Given the description of an element on the screen output the (x, y) to click on. 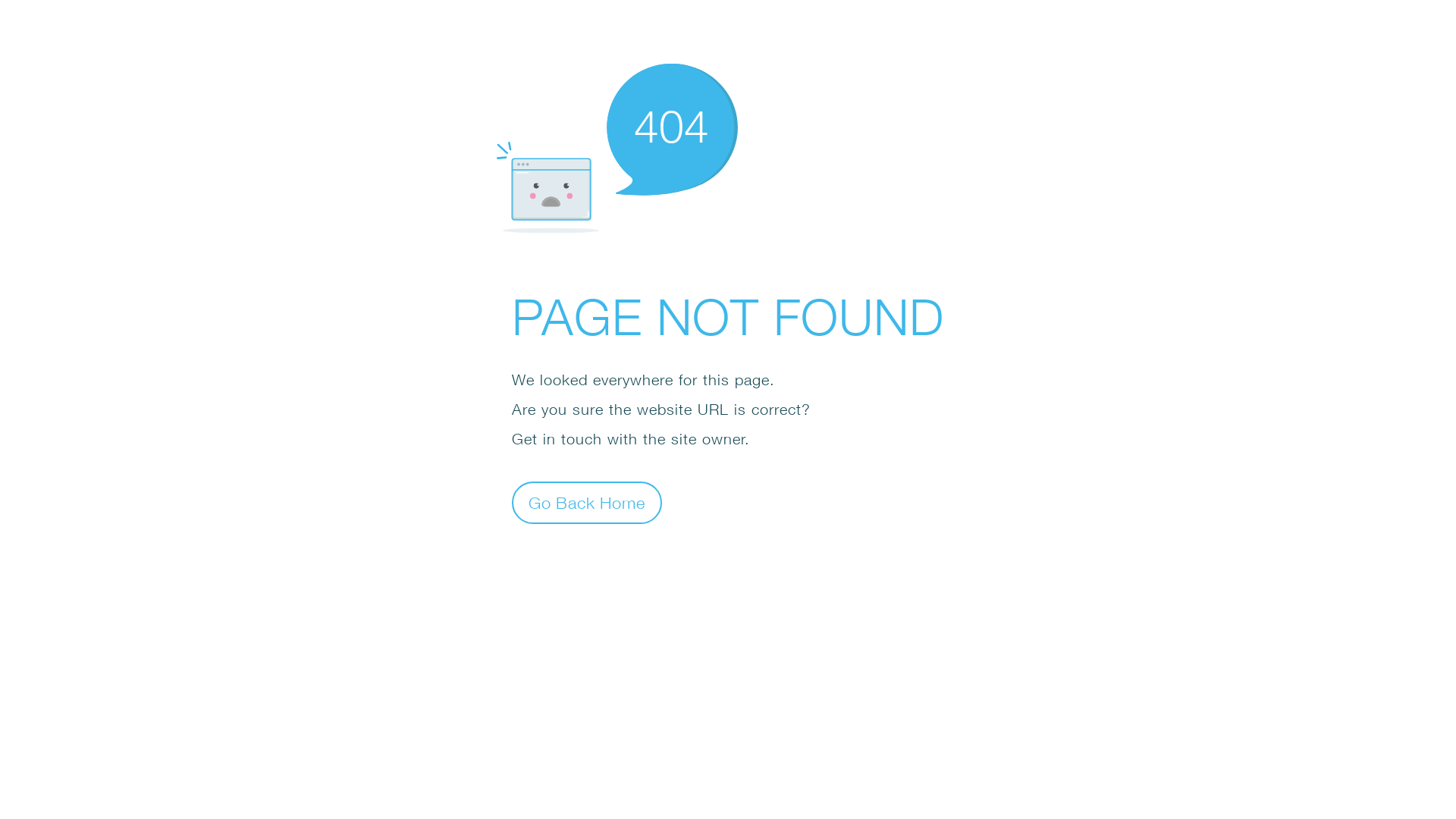
Go Back Home Element type: text (586, 502)
